Given the description of an element on the screen output the (x, y) to click on. 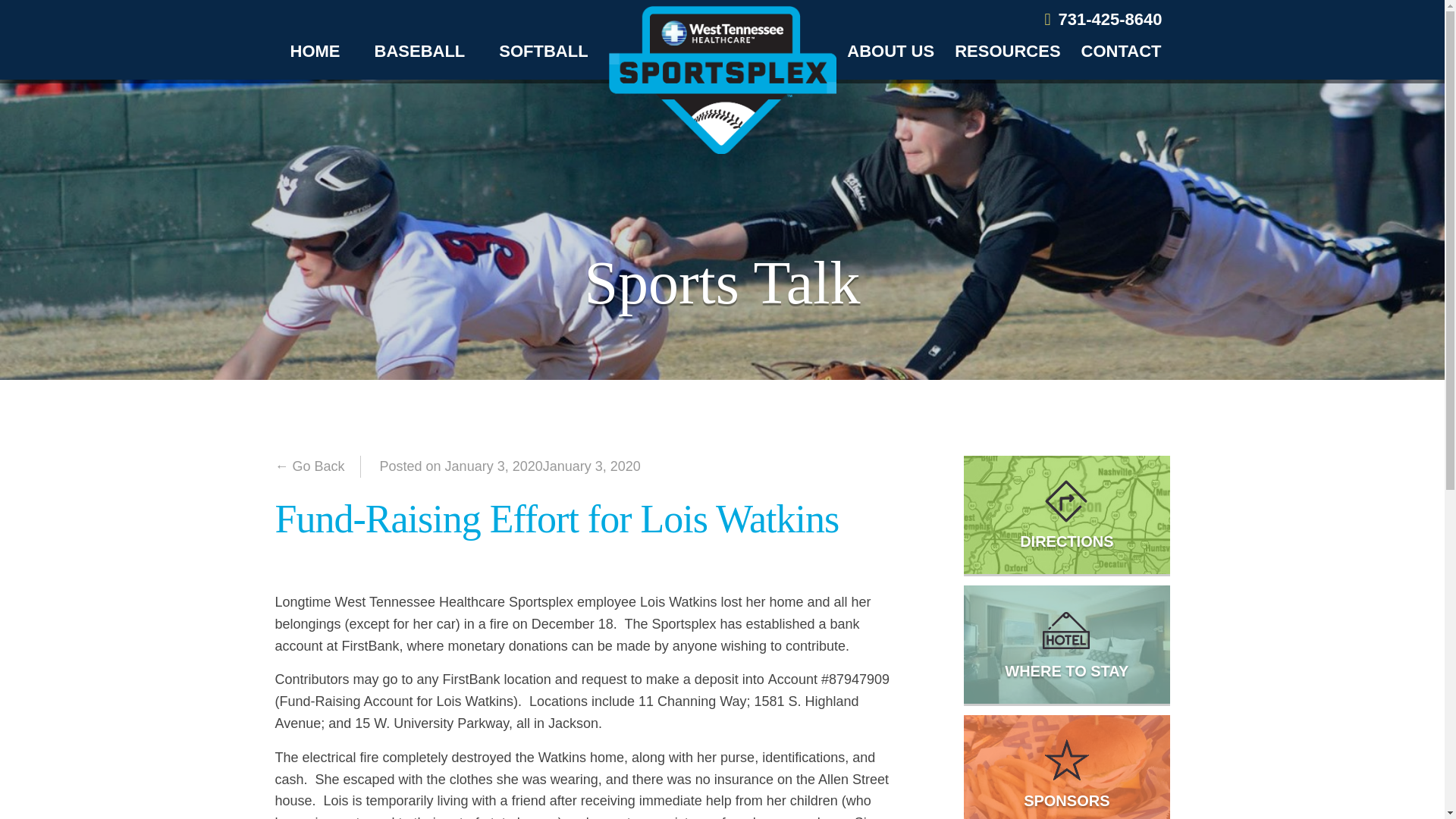
731-425-8640 (1102, 18)
RESOURCES (1007, 50)
DIRECTIONS (1066, 514)
BASEBALL (419, 50)
WHERE TO STAY (1066, 644)
CONTACT (1121, 50)
HOME (315, 50)
SPONSORS (1066, 766)
ABOUT US (890, 50)
SOFTBALL (542, 50)
